Given the description of an element on the screen output the (x, y) to click on. 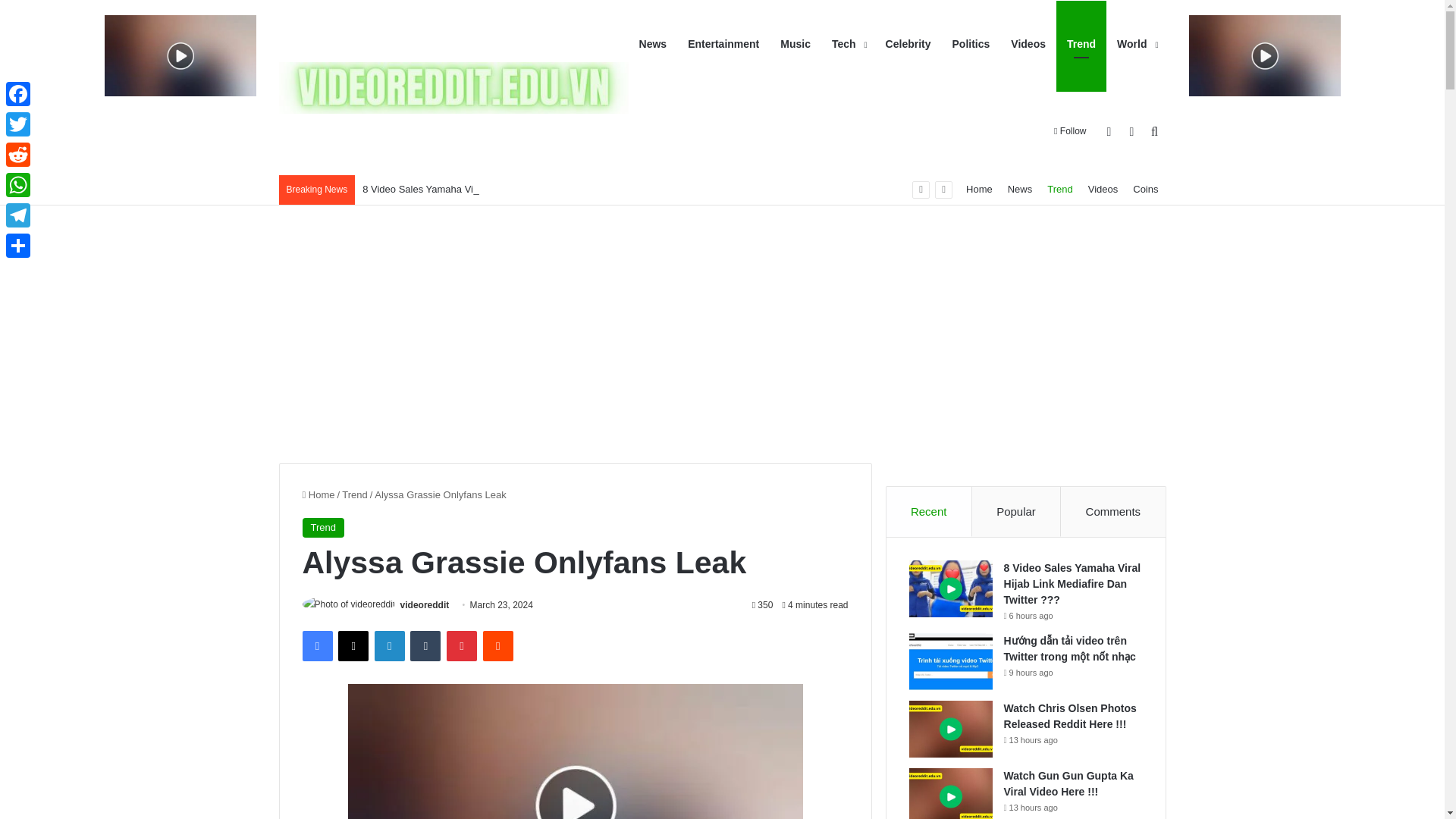
Entertainment (723, 43)
Facebook (316, 645)
Home (317, 494)
Coins (1145, 189)
Trend (354, 494)
Video Reddit Trend (453, 87)
LinkedIn (389, 645)
LinkedIn (389, 645)
Home (979, 189)
Trend (322, 527)
